Given the description of an element on the screen output the (x, y) to click on. 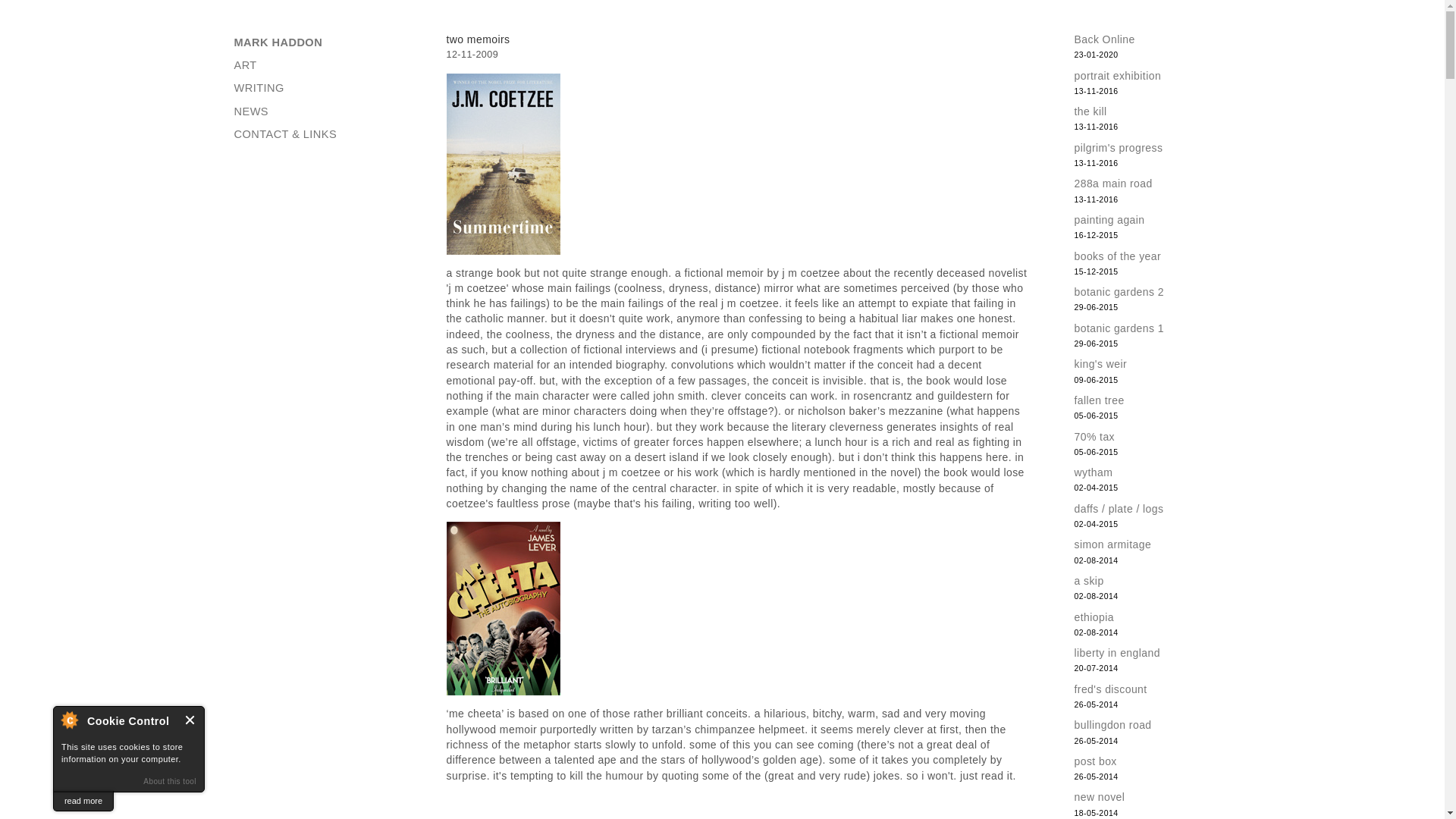
fallen tree (1099, 399)
bullingdon road (1112, 725)
Back Online (1104, 39)
About this tool (169, 781)
ART (315, 65)
About Cookie Control (68, 719)
pilgrim's progress (1117, 147)
WRITING (315, 87)
fred's discount (1110, 689)
king's weir (1100, 363)
